Given the description of an element on the screen output the (x, y) to click on. 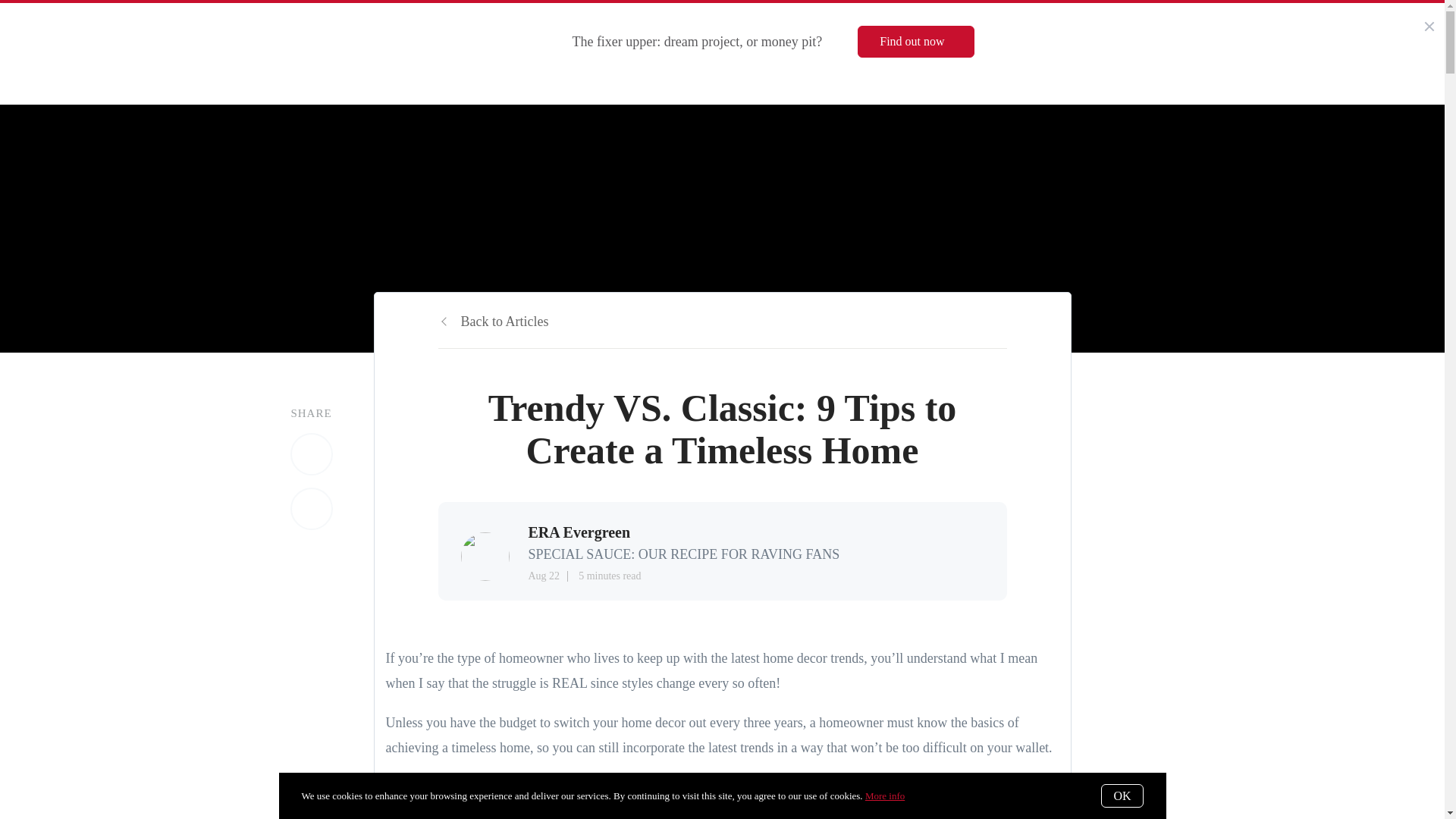
Find out now (915, 41)
